Given the description of an element on the screen output the (x, y) to click on. 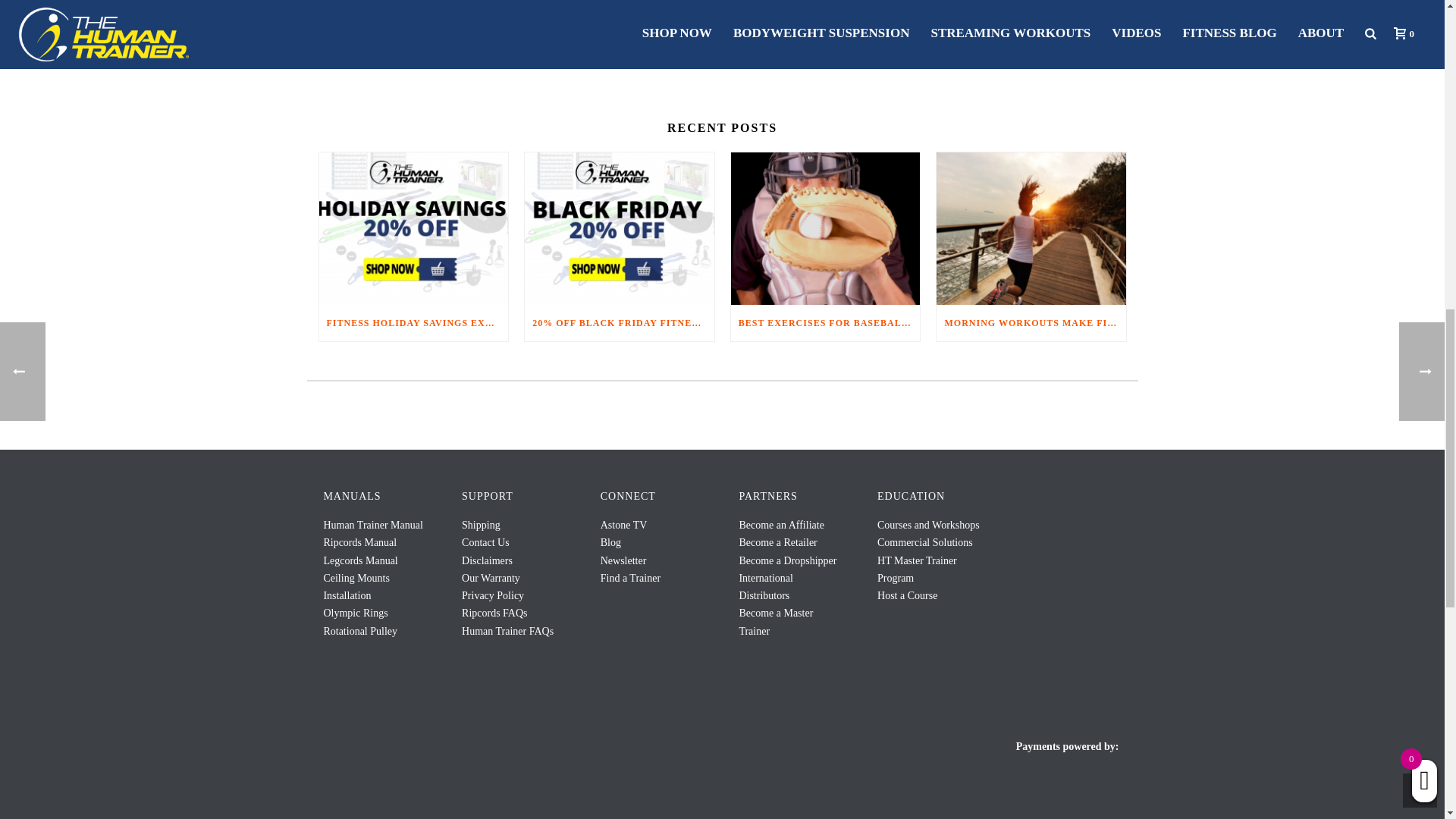
Best Exercises For Baseball Players (825, 228)
Morning Workouts Make Fitness Fun (1030, 228)
